Given the description of an element on the screen output the (x, y) to click on. 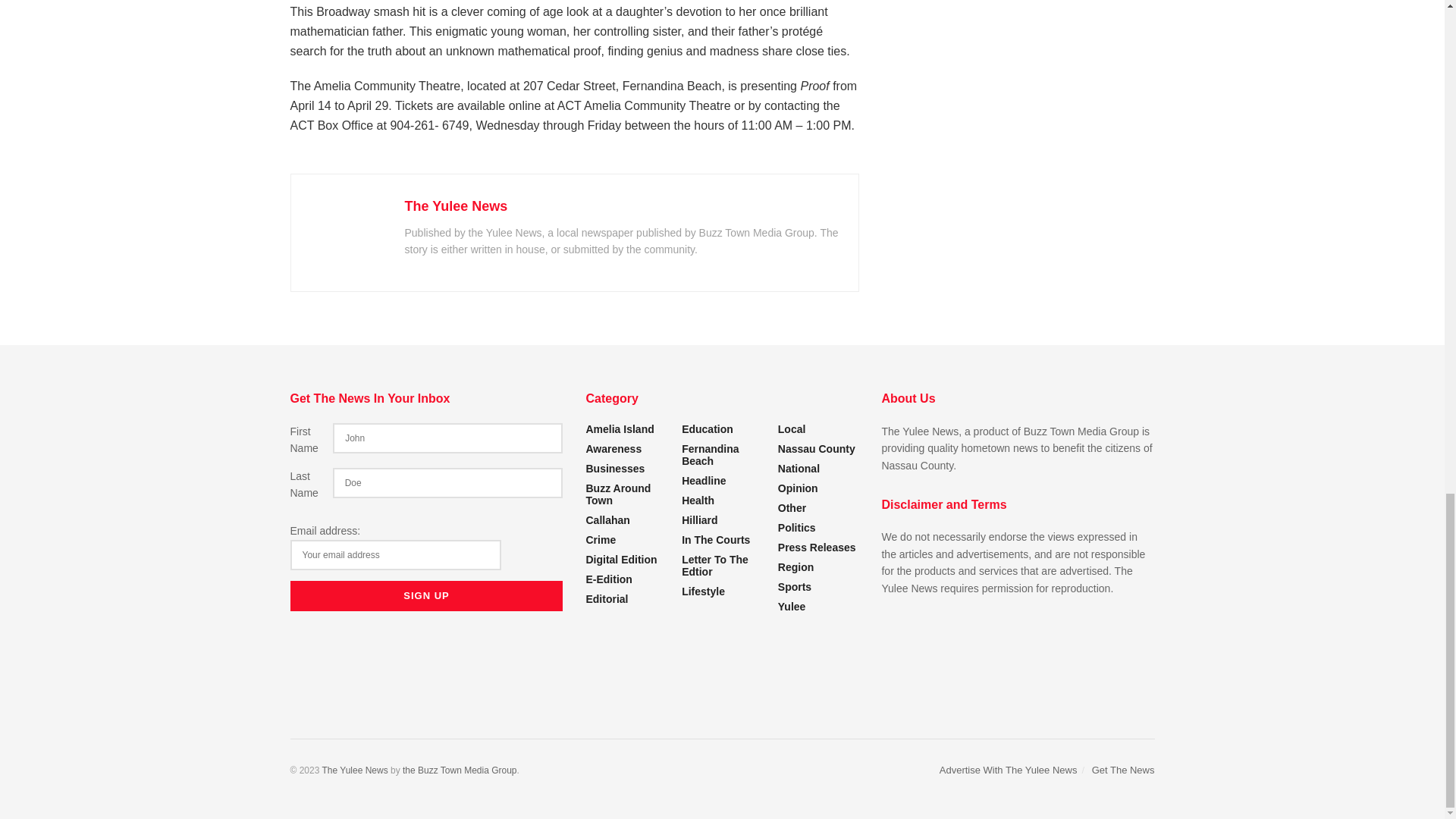
The Yulee News (354, 769)
Sign up (425, 595)
Jegtheme (459, 769)
